Given the description of an element on the screen output the (x, y) to click on. 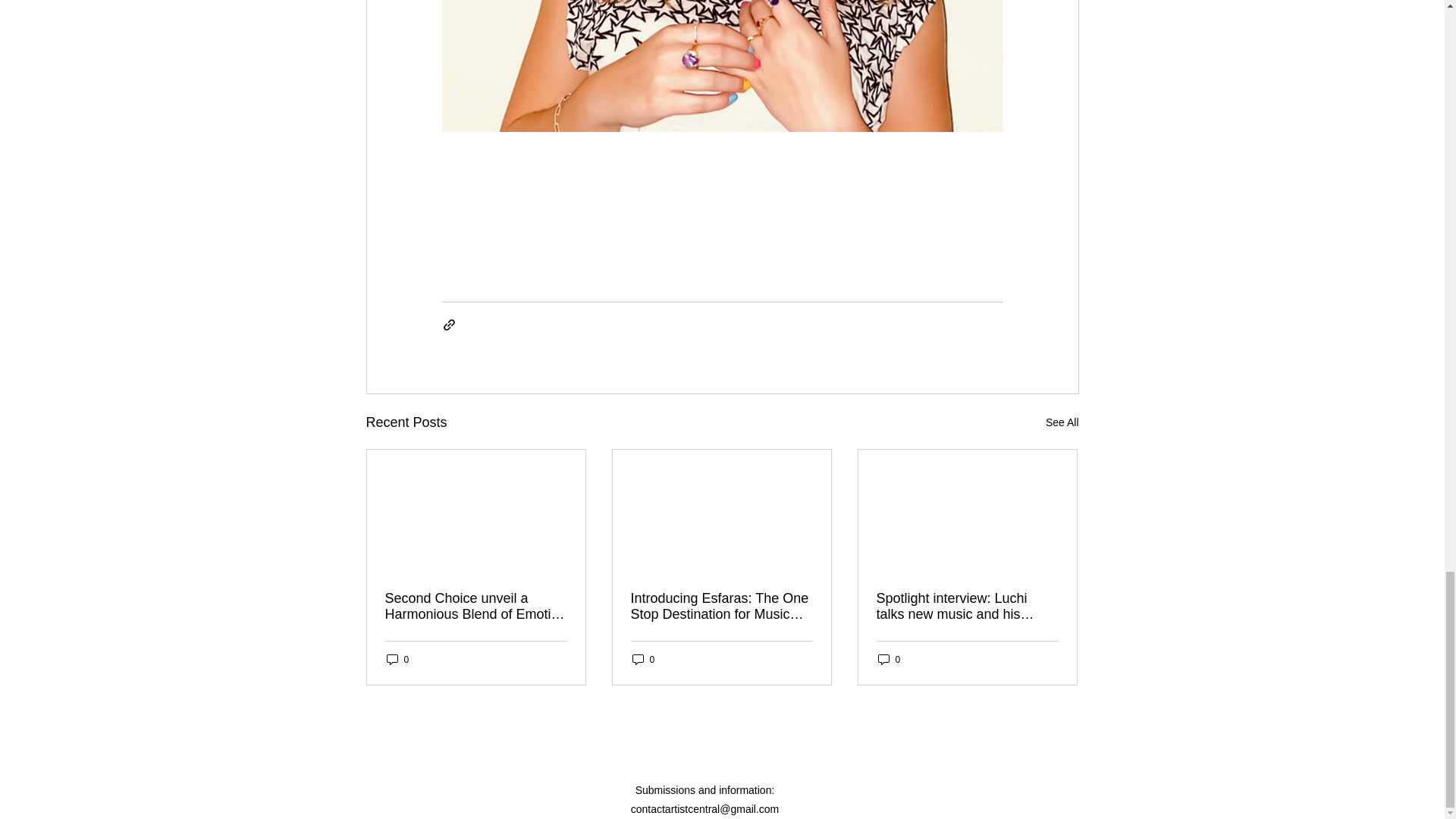
0 (397, 658)
0 (643, 658)
0 (889, 658)
See All (1061, 422)
